Given the description of an element on the screen output the (x, y) to click on. 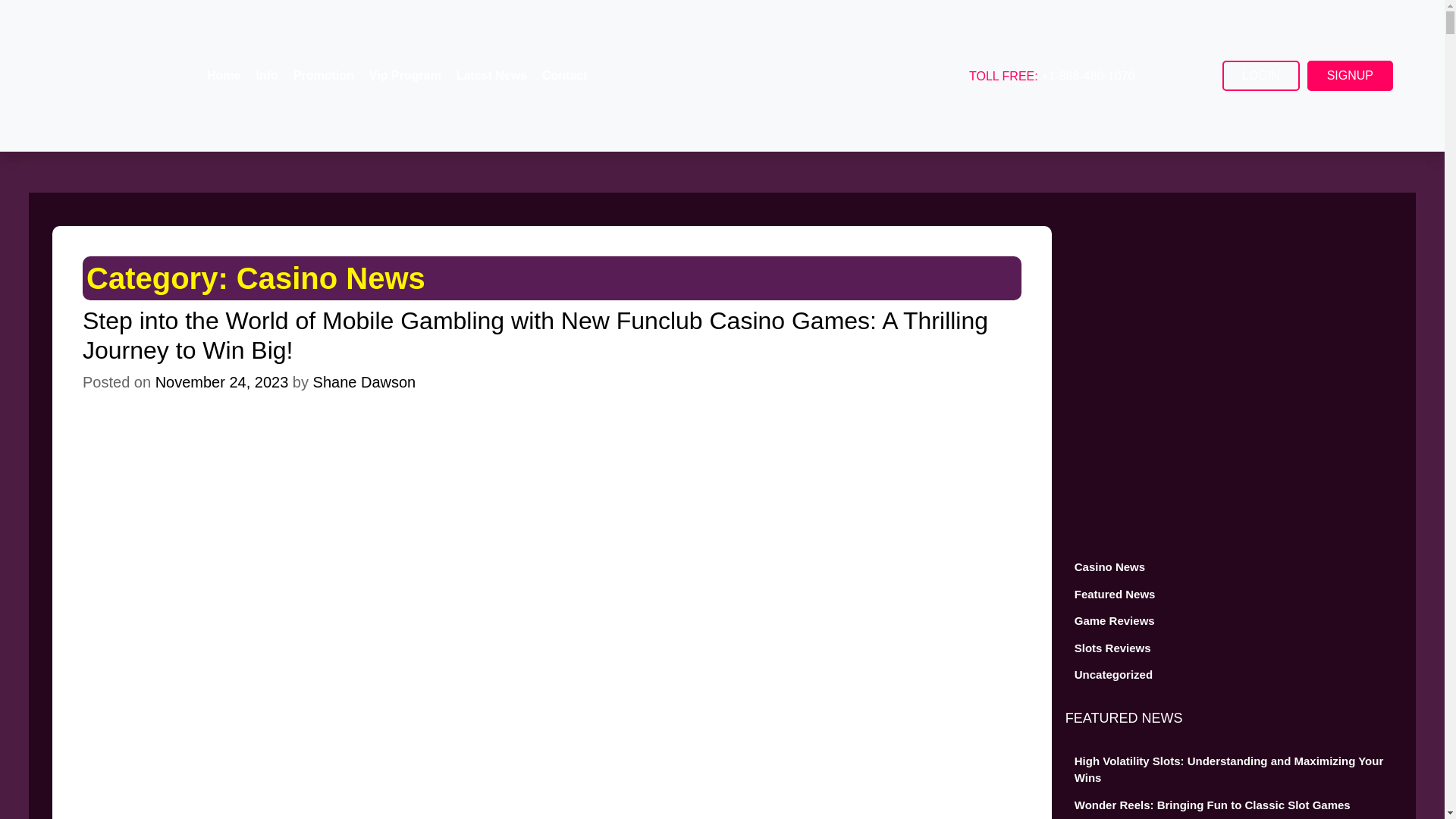
Promotion (323, 75)
Latest News (491, 75)
Contact (564, 75)
Shane Dawson (364, 381)
November 24, 2023 (221, 381)
LOGIN (1261, 75)
Home (223, 75)
Vip Program (404, 75)
SIGNUP (1350, 75)
